Given the description of an element on the screen output the (x, y) to click on. 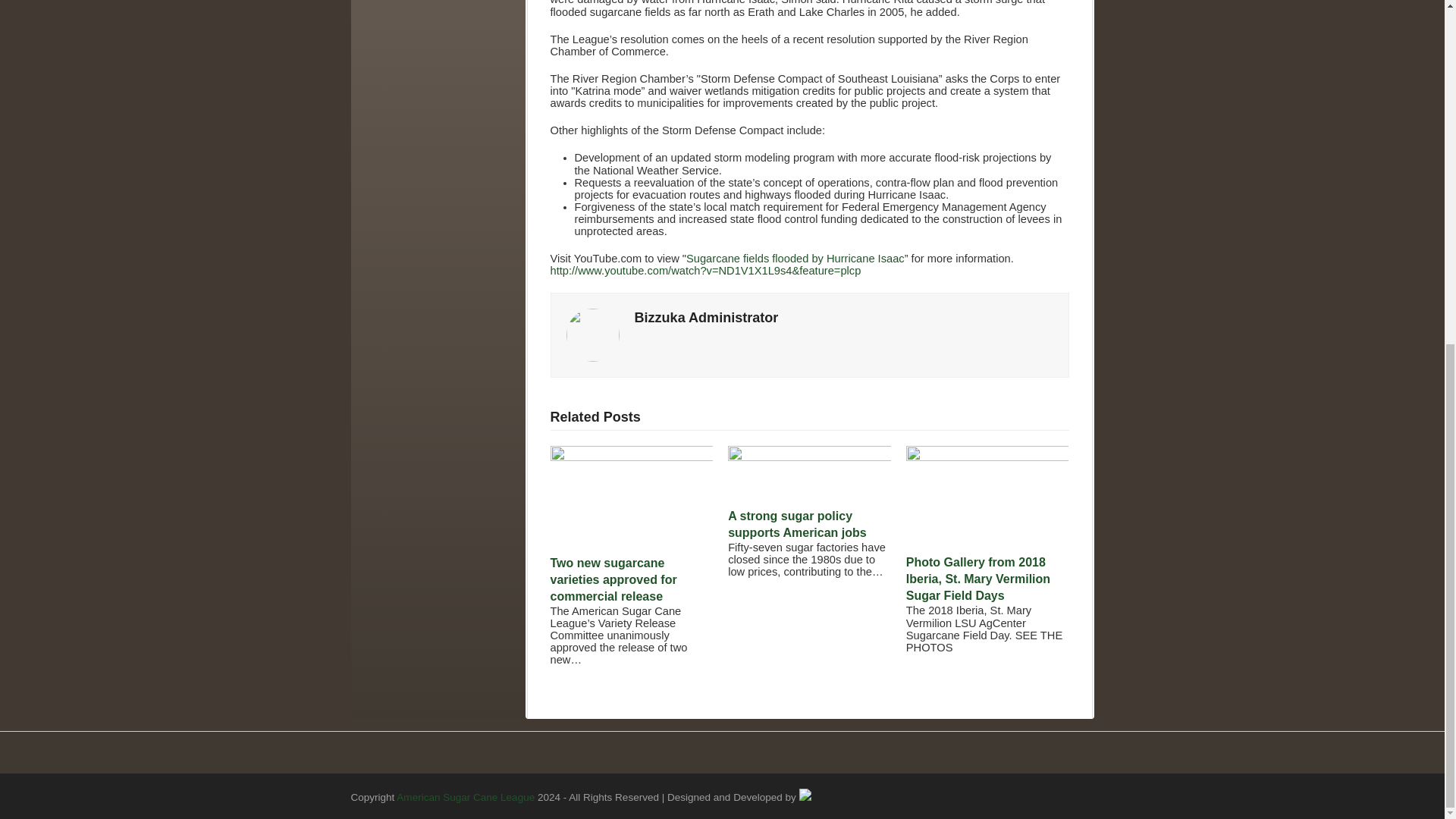
Two new sugarcane varieties approved for commercial release (631, 457)
Sugarcane fields flooded by Hurricane Isaac (794, 258)
Visit Author Page (705, 317)
Visit Author Page (592, 333)
A strong sugar policy supports American jobs (809, 457)
